Given the description of an element on the screen output the (x, y) to click on. 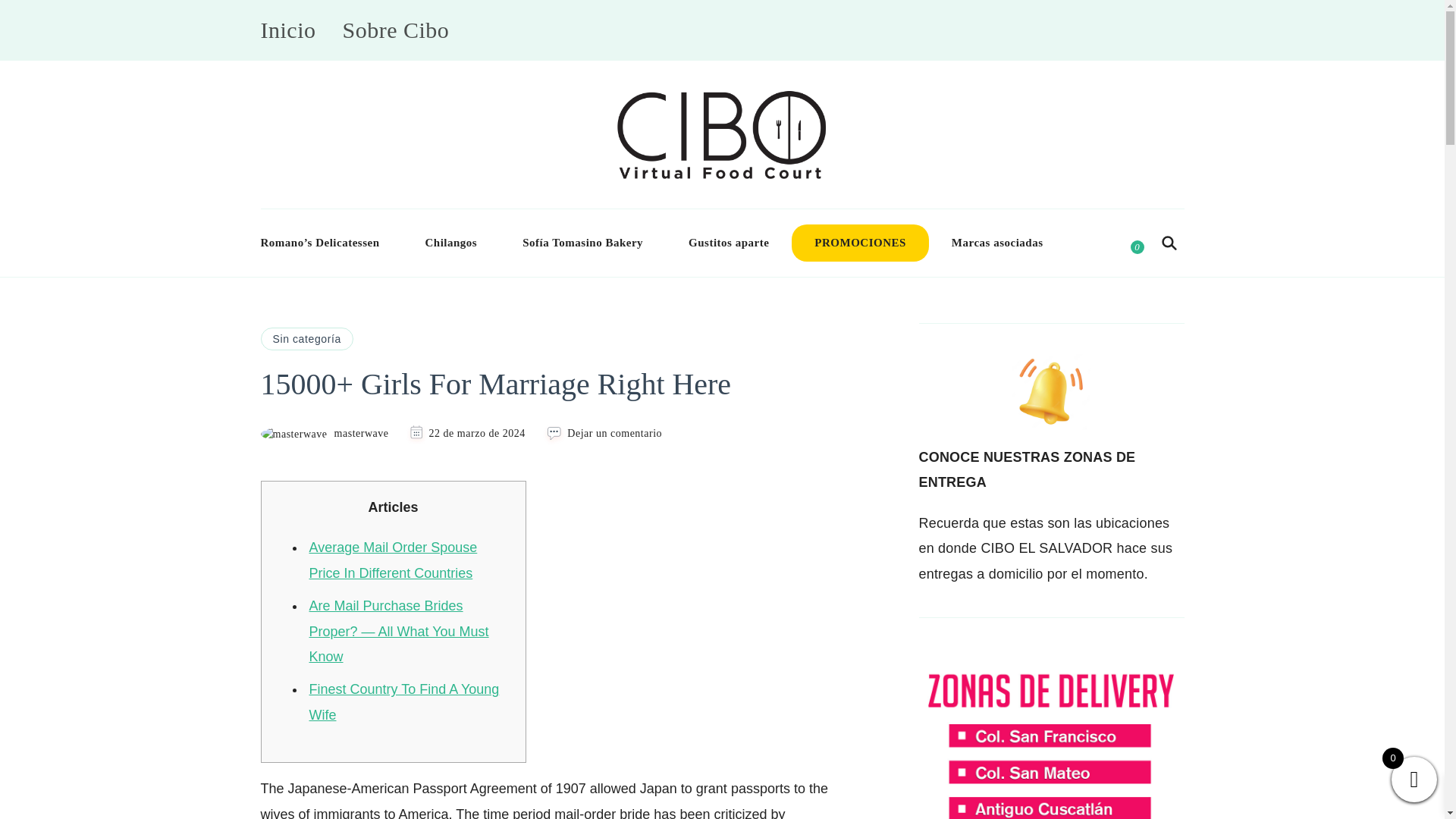
Marcas asociadas (996, 243)
Gustitos aparte (728, 243)
Sobre Cibo (395, 30)
CIBO (749, 199)
Inicio (287, 30)
PROMOCIONES (860, 243)
Chilangos (451, 243)
